Given the description of an element on the screen output the (x, y) to click on. 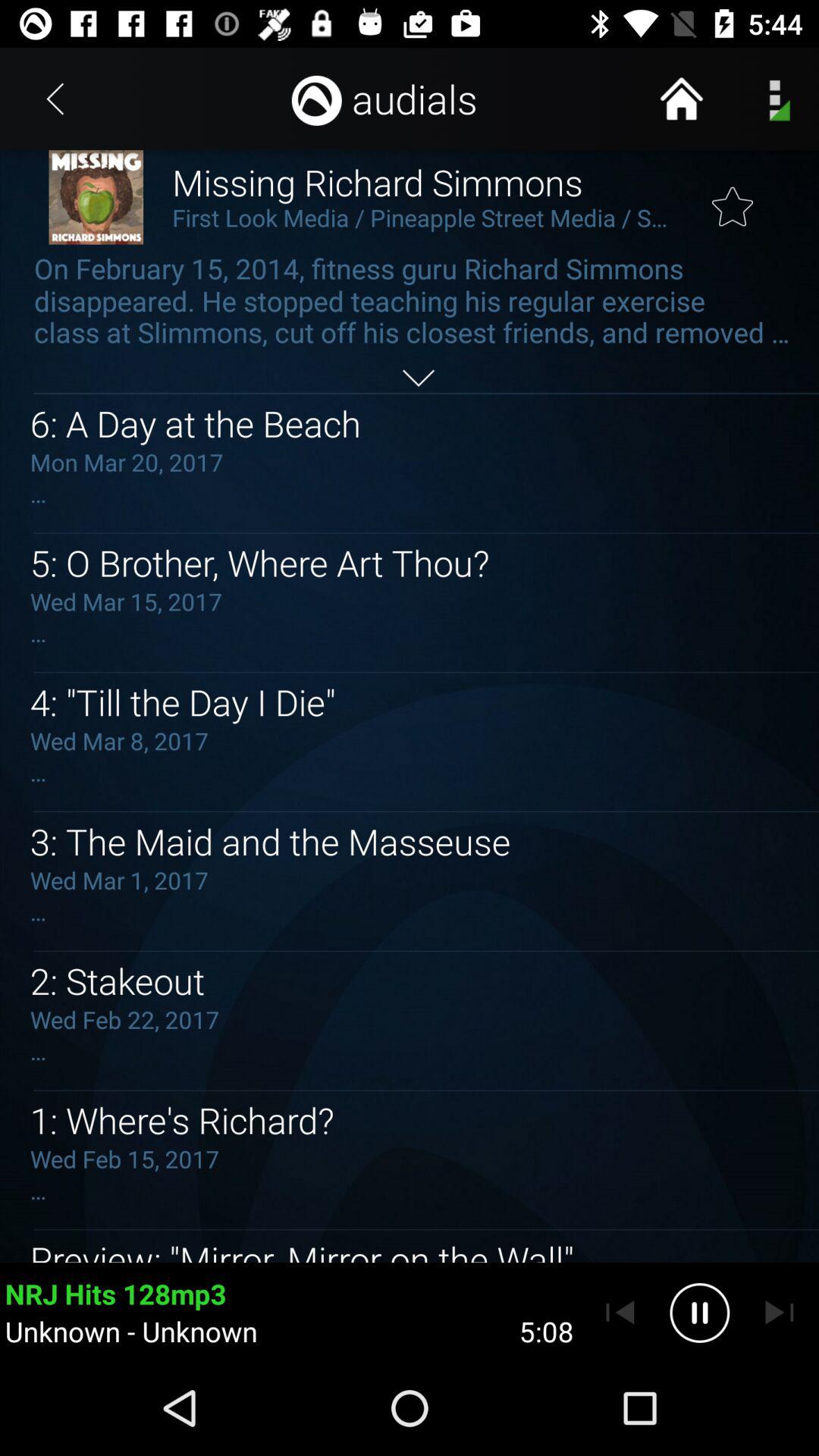
skip back (619, 1312)
